Given the description of an element on the screen output the (x, y) to click on. 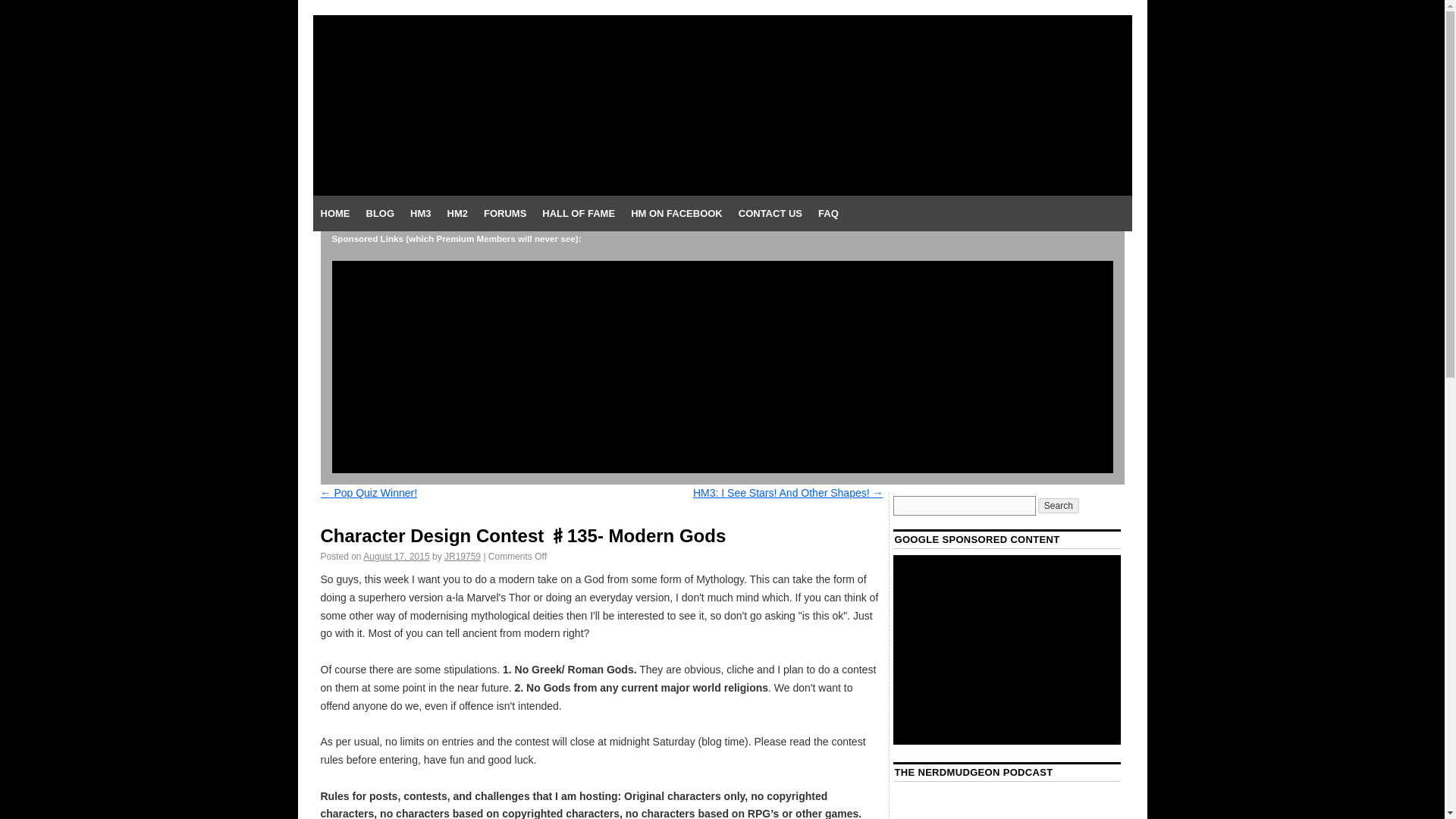
HALL OF FAME (578, 213)
BLOG (379, 213)
View all posts by JR19759 (462, 556)
CONTACT US (769, 213)
FAQ (827, 213)
JR19759 (462, 556)
HOME (334, 213)
Search (1058, 505)
HM2 (457, 213)
Search (1058, 505)
